Given the description of an element on the screen output the (x, y) to click on. 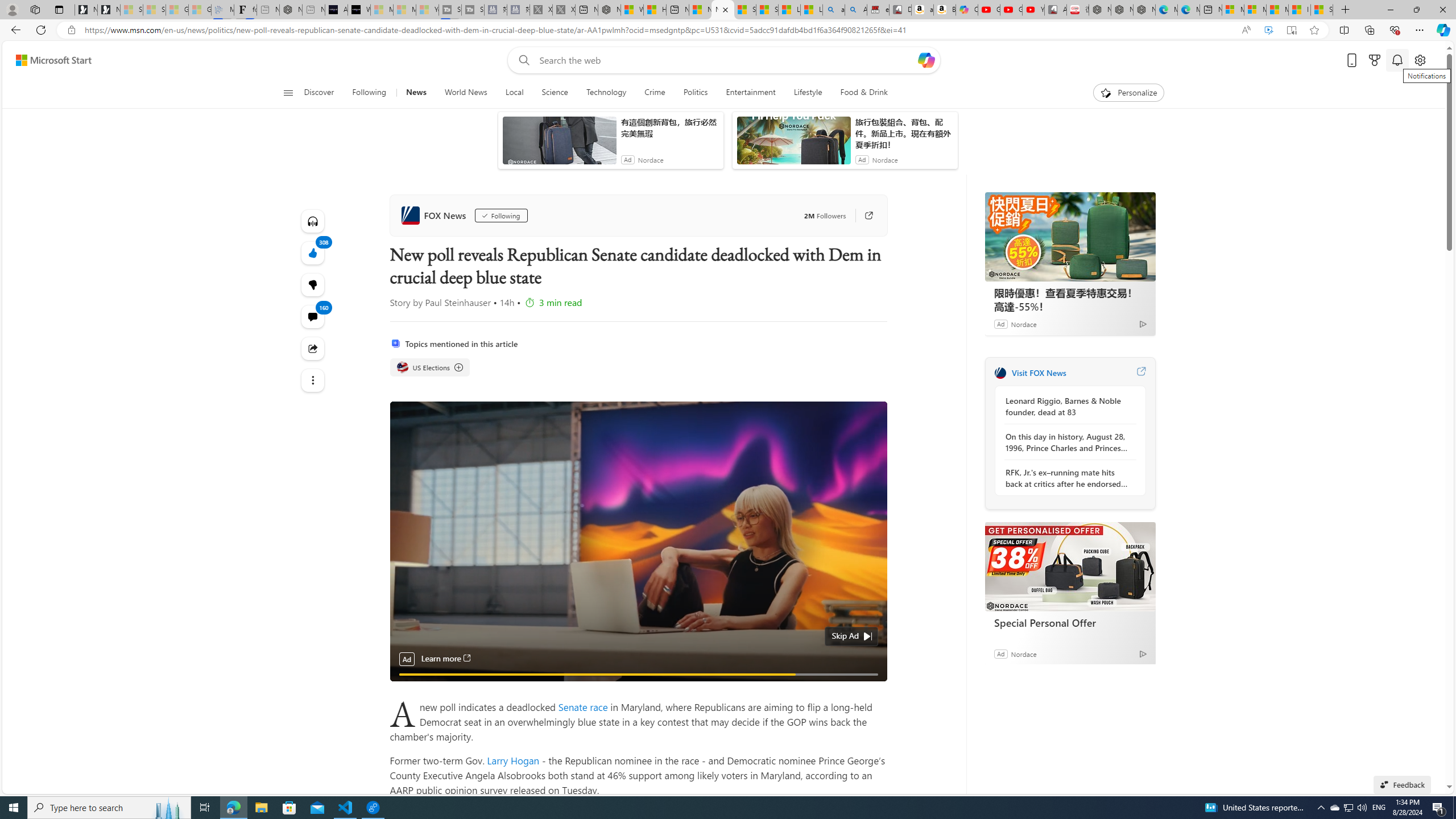
Microsoft rewards (1374, 60)
Technology (605, 92)
Notifications (1397, 60)
amazon.in/dp/B0CX59H5W7/?tag=gsmcom05-21 (923, 9)
Crime (654, 92)
FOX News (435, 215)
Open settings (1420, 60)
World News (465, 92)
Skip to footer (46, 59)
Technology (606, 92)
